Given the description of an element on the screen output the (x, y) to click on. 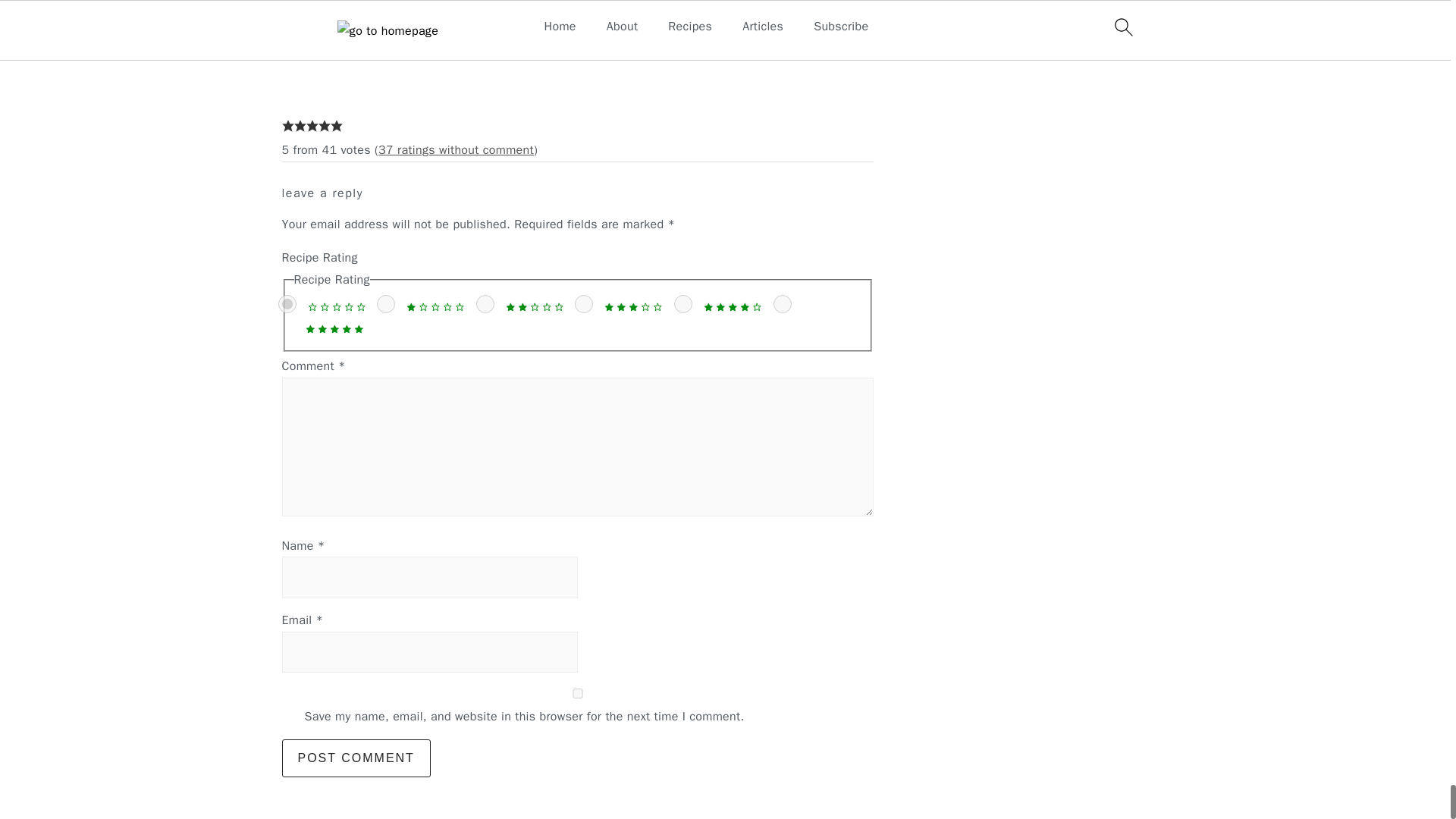
Post Comment (356, 758)
4 (683, 303)
3 (583, 303)
0 (286, 303)
yes (577, 693)
1 (385, 303)
5 (782, 303)
2 (485, 303)
